Given the description of an element on the screen output the (x, y) to click on. 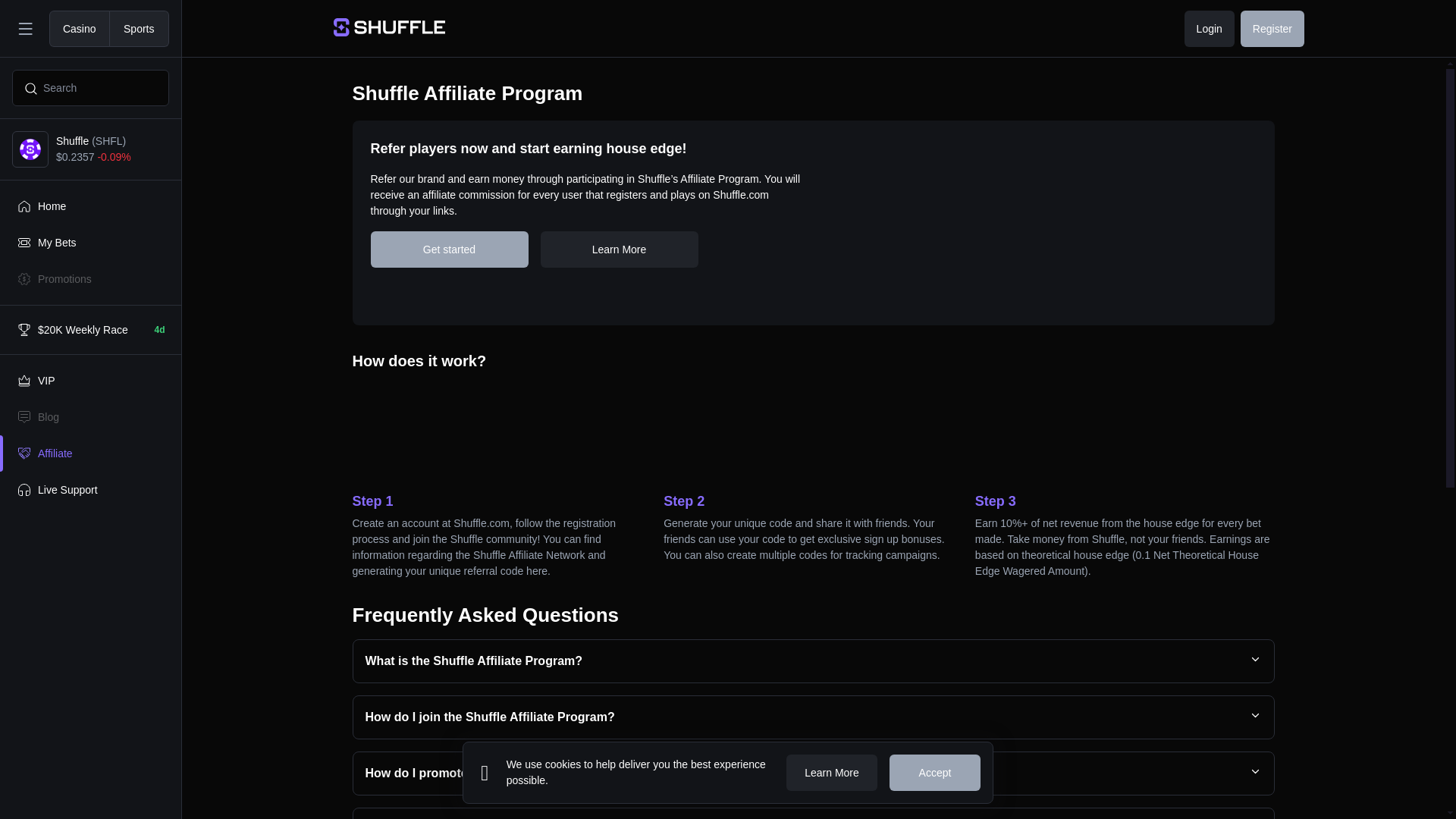
Live Support (90, 489)
Sports (138, 28)
Home (90, 206)
My Bets (90, 242)
VIP (90, 380)
Login (1209, 28)
Affiliate (90, 452)
Search (89, 87)
Get started (448, 248)
Casino (79, 28)
Shuffle casino (389, 27)
Learn More (618, 248)
Live Support (90, 489)
Register (1272, 28)
